Given the description of an element on the screen output the (x, y) to click on. 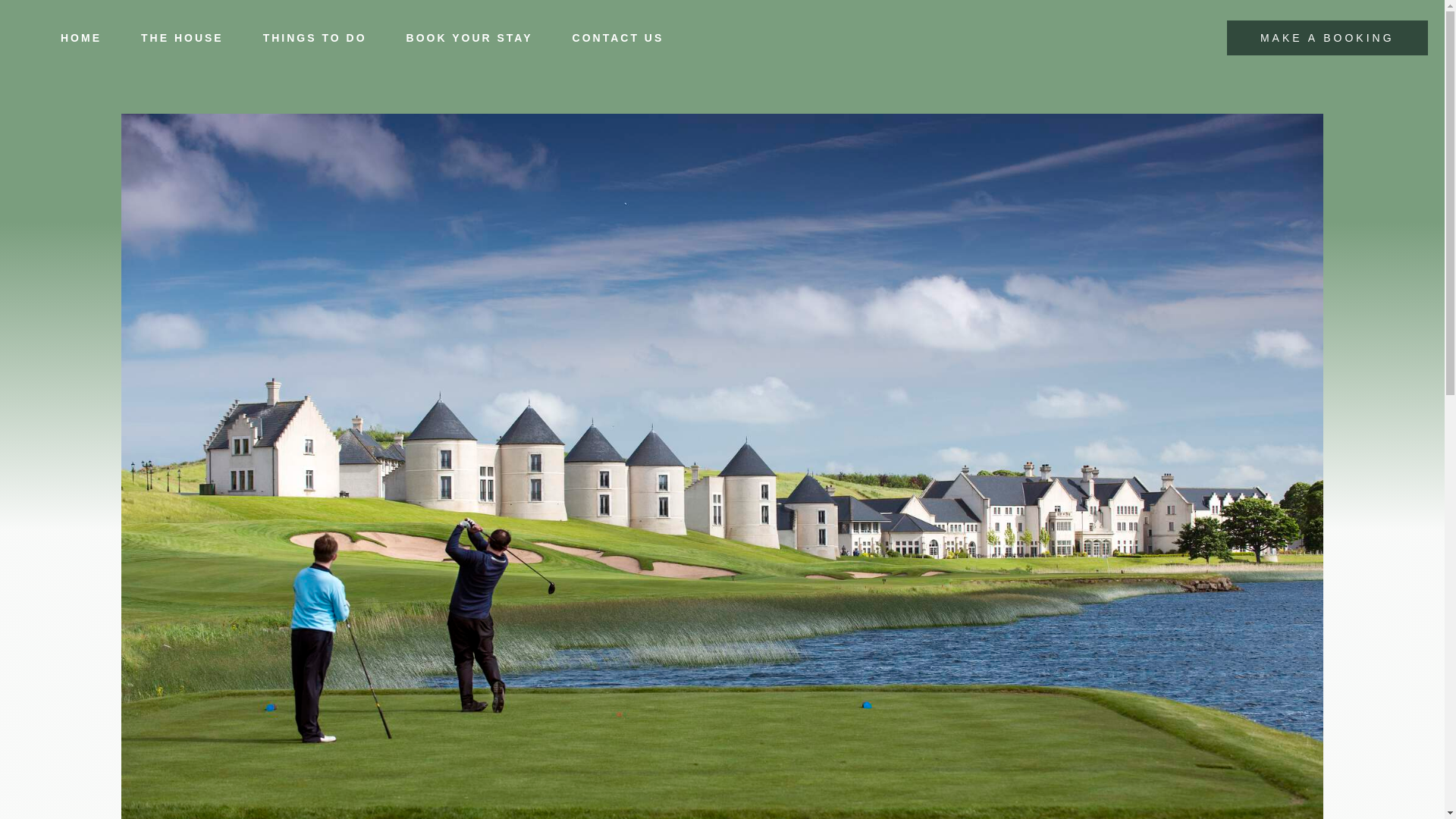
HOME (80, 37)
THE HOUSE (181, 37)
MAKE A BOOKING (1327, 37)
BOOK YOUR STAY (469, 37)
CONTACT US (618, 37)
THINGS TO DO (314, 37)
